Given the description of an element on the screen output the (x, y) to click on. 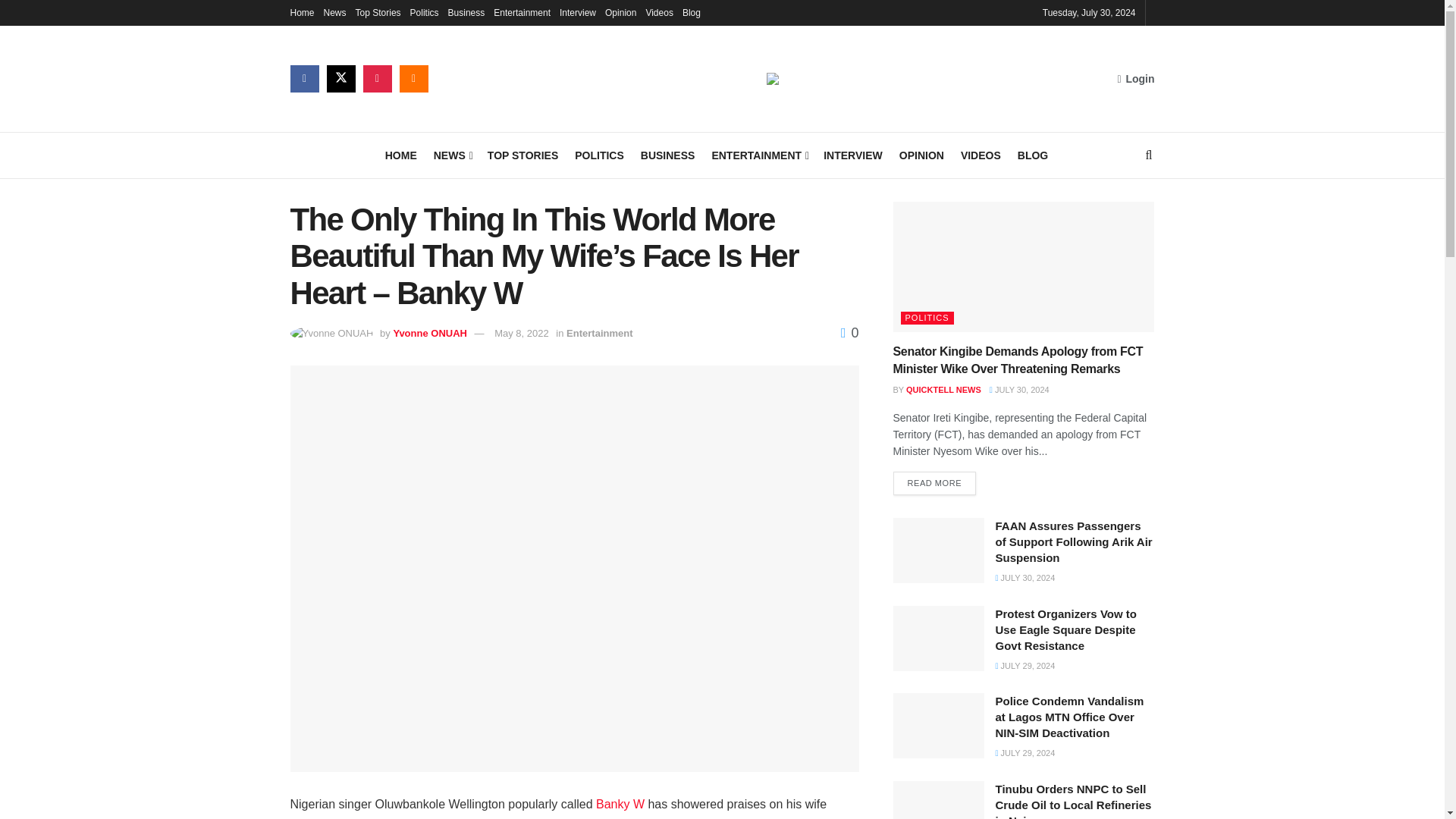
ENTERTAINMENT (758, 155)
Interview (577, 12)
HOME (400, 155)
Entertainment (521, 12)
Opinion (620, 12)
INTERVIEW (853, 155)
VIDEOS (980, 155)
TOP STORIES (522, 155)
Top Stories (378, 12)
POLITICS (599, 155)
Home (301, 12)
Videos (658, 12)
BUSINESS (667, 155)
OPINION (921, 155)
Business (466, 12)
